Given the description of an element on the screen output the (x, y) to click on. 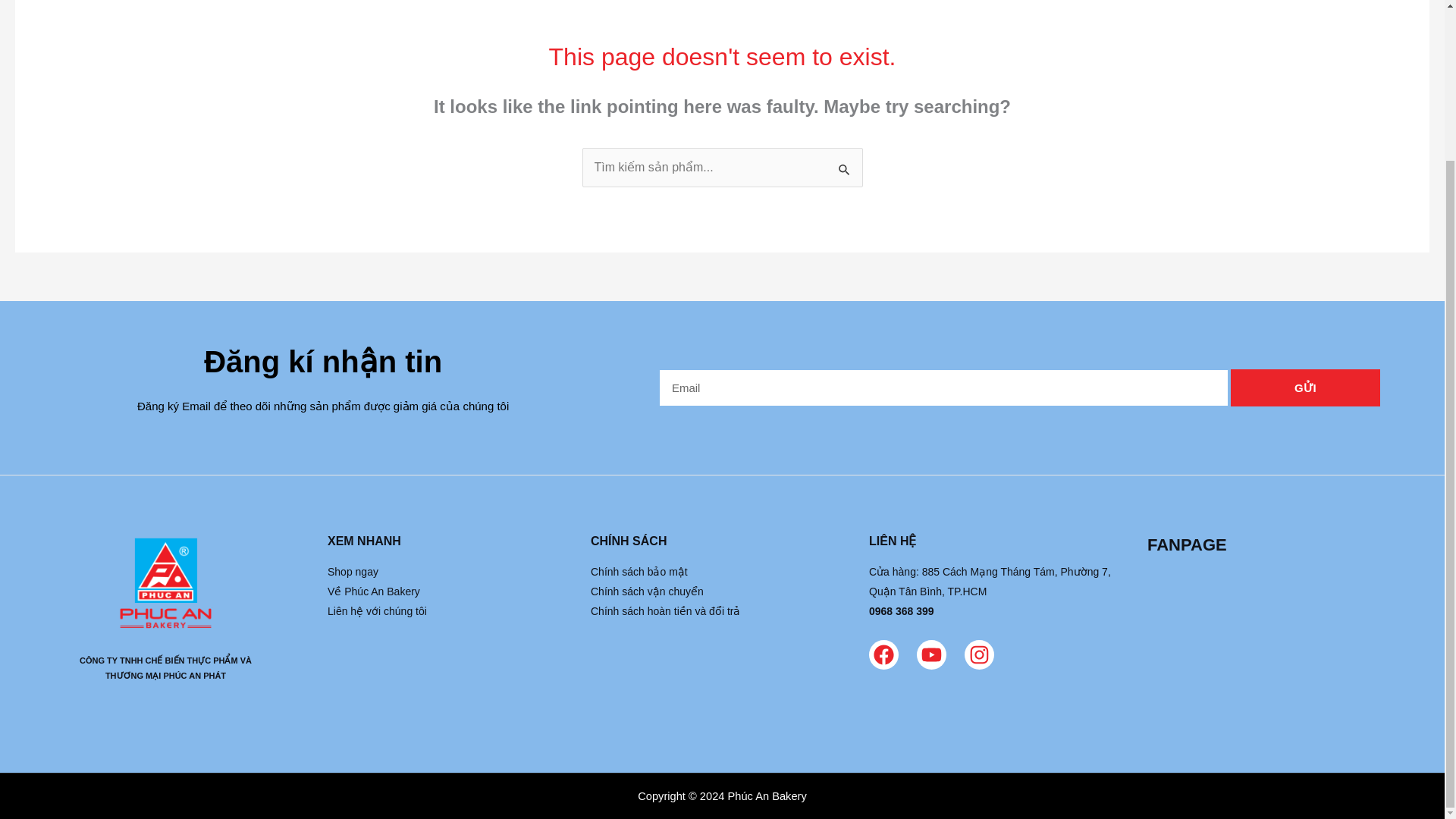
Search (844, 167)
Search (844, 167)
Search (844, 167)
